Given the description of an element on the screen output the (x, y) to click on. 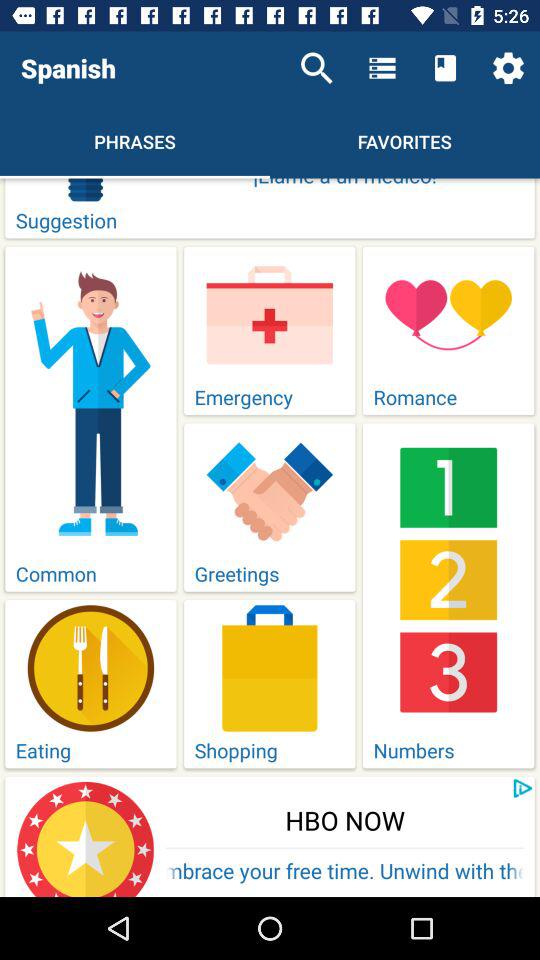
launch embrace your free icon (345, 872)
